Given the description of an element on the screen output the (x, y) to click on. 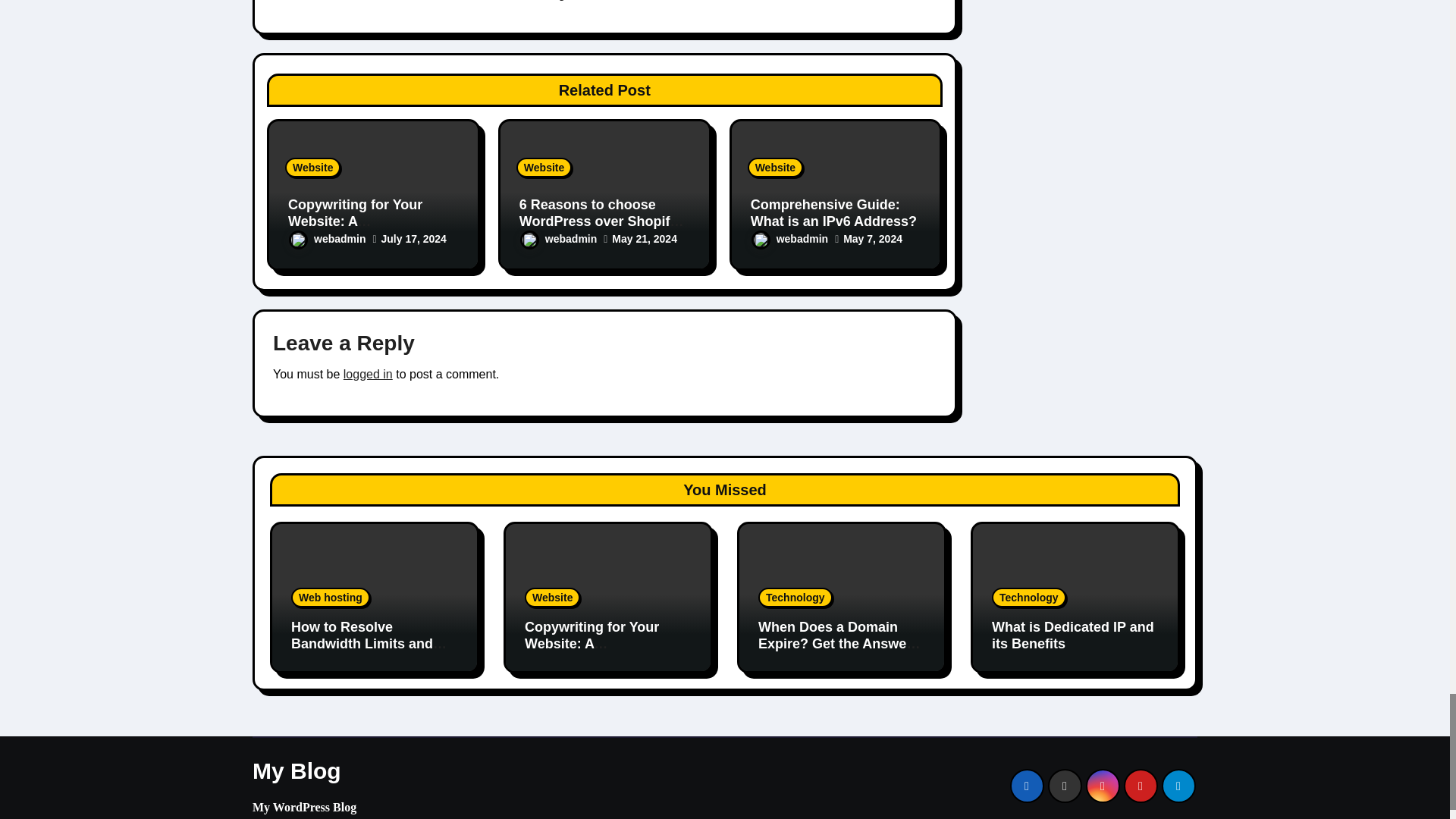
Permalink to: Comprehensive Guide: What is an IPv6 Address? (834, 213)
Permalink to: What is Dedicated IP and its Benefits (1072, 635)
